Given the description of an element on the screen output the (x, y) to click on. 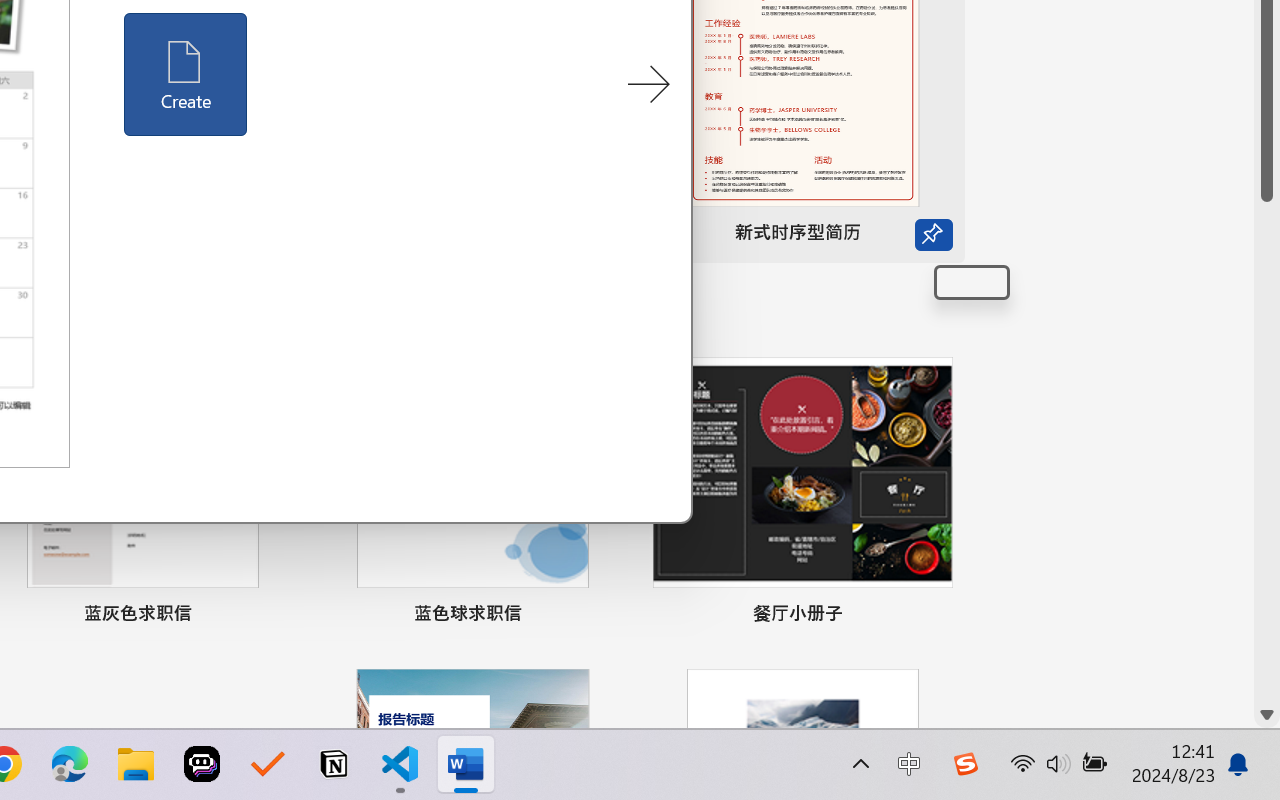
Next Template (648, 85)
Page down (1267, 451)
Pin to list (934, 616)
Create (185, 74)
Pin to list (971, 282)
Line down (1267, 715)
